Given the description of an element on the screen output the (x, y) to click on. 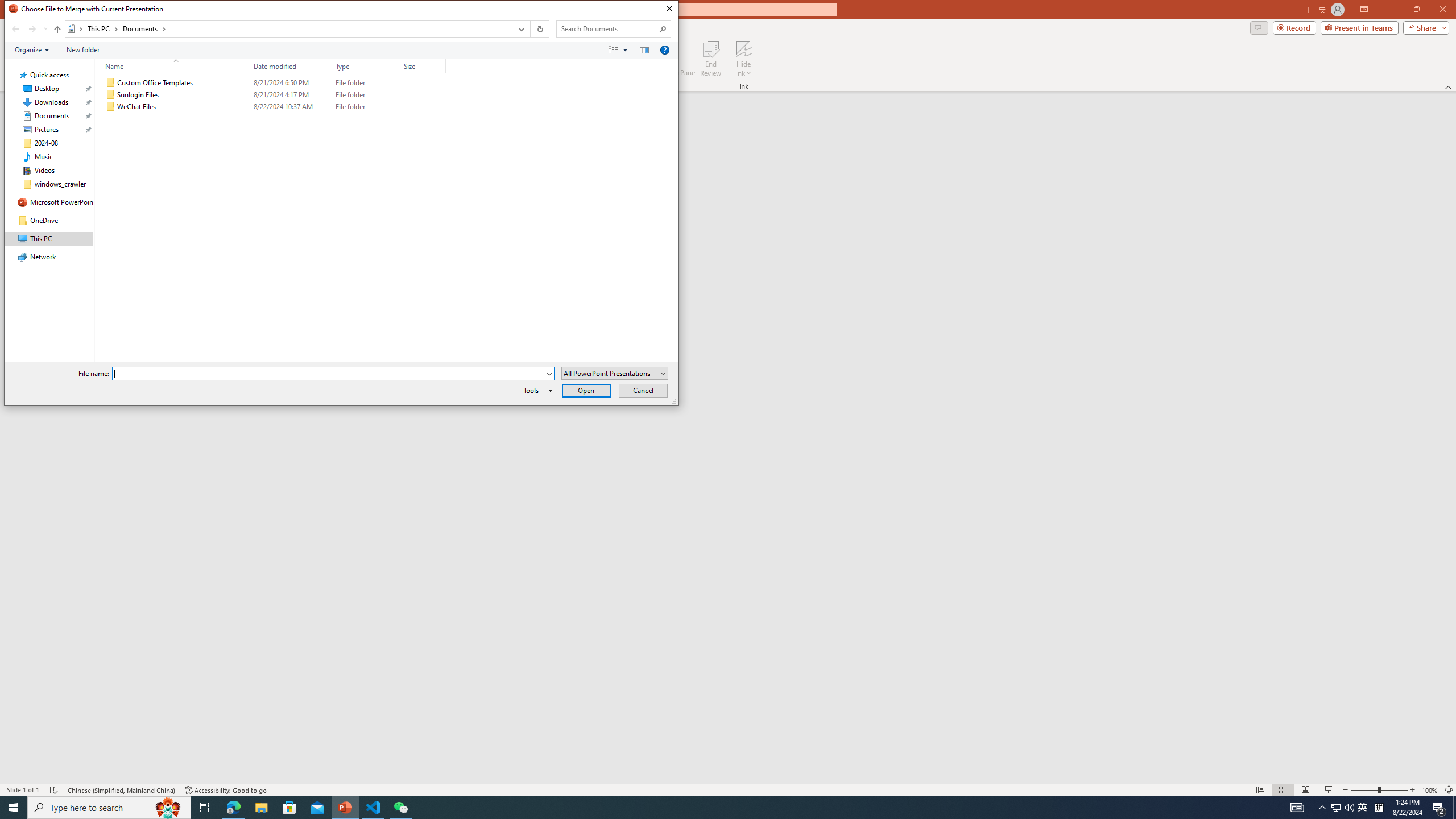
Spell Check No Errors (54, 790)
Sunlogin Files (273, 94)
Collapse the Ribbon (1362, 807)
Type (1448, 86)
System (365, 65)
Present in Teams (10, 10)
Size (1359, 27)
Slide Show (422, 65)
Task View (1328, 790)
Recent locations (204, 807)
Class: UIImage (44, 28)
Zoom In (111, 106)
End Review (1412, 790)
